Given the description of an element on the screen output the (x, y) to click on. 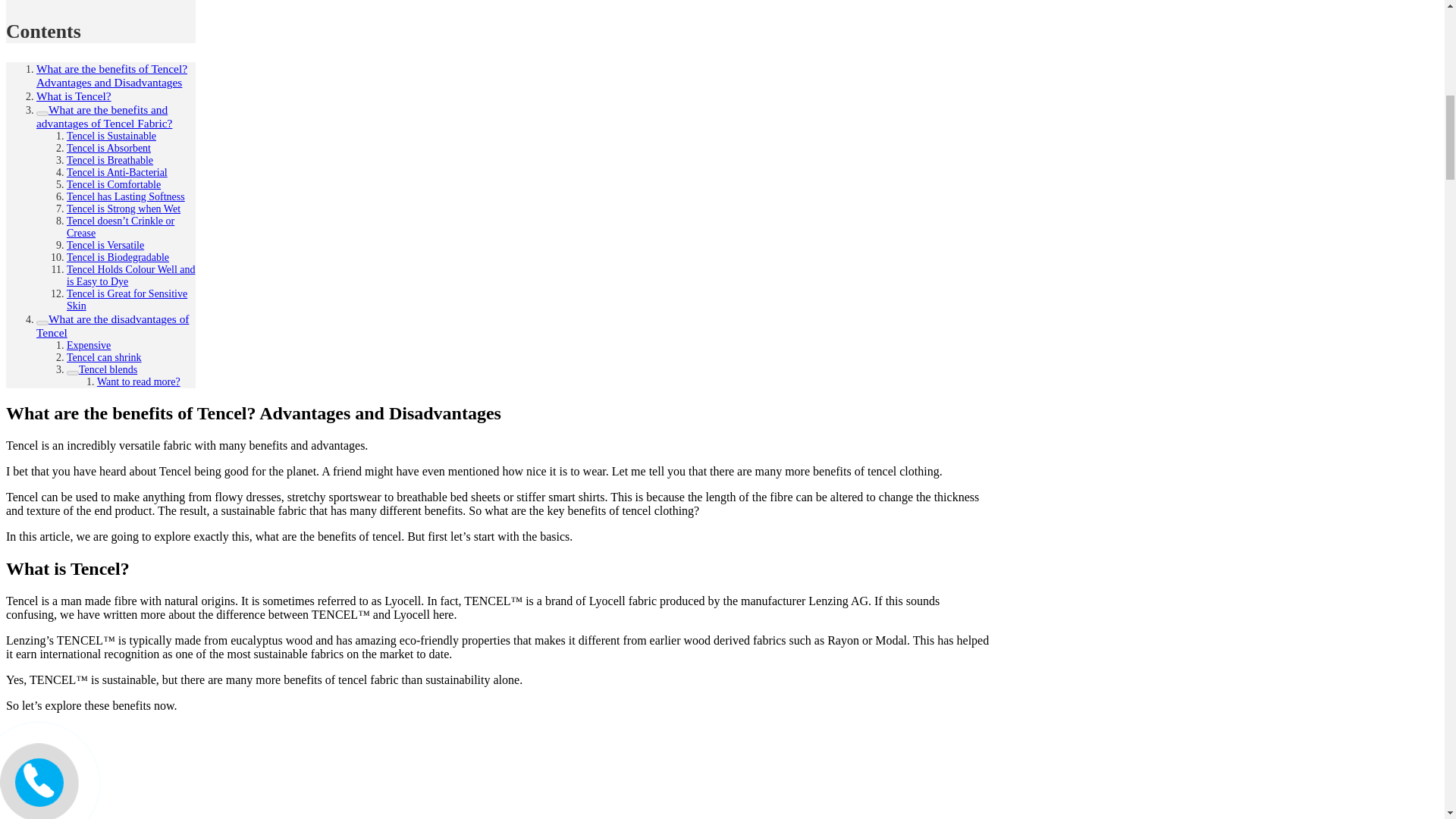
What is Tencel? (74, 96)
What are the benefits and advantages of Tencel Fabric? (103, 116)
